Given the description of an element on the screen output the (x, y) to click on. 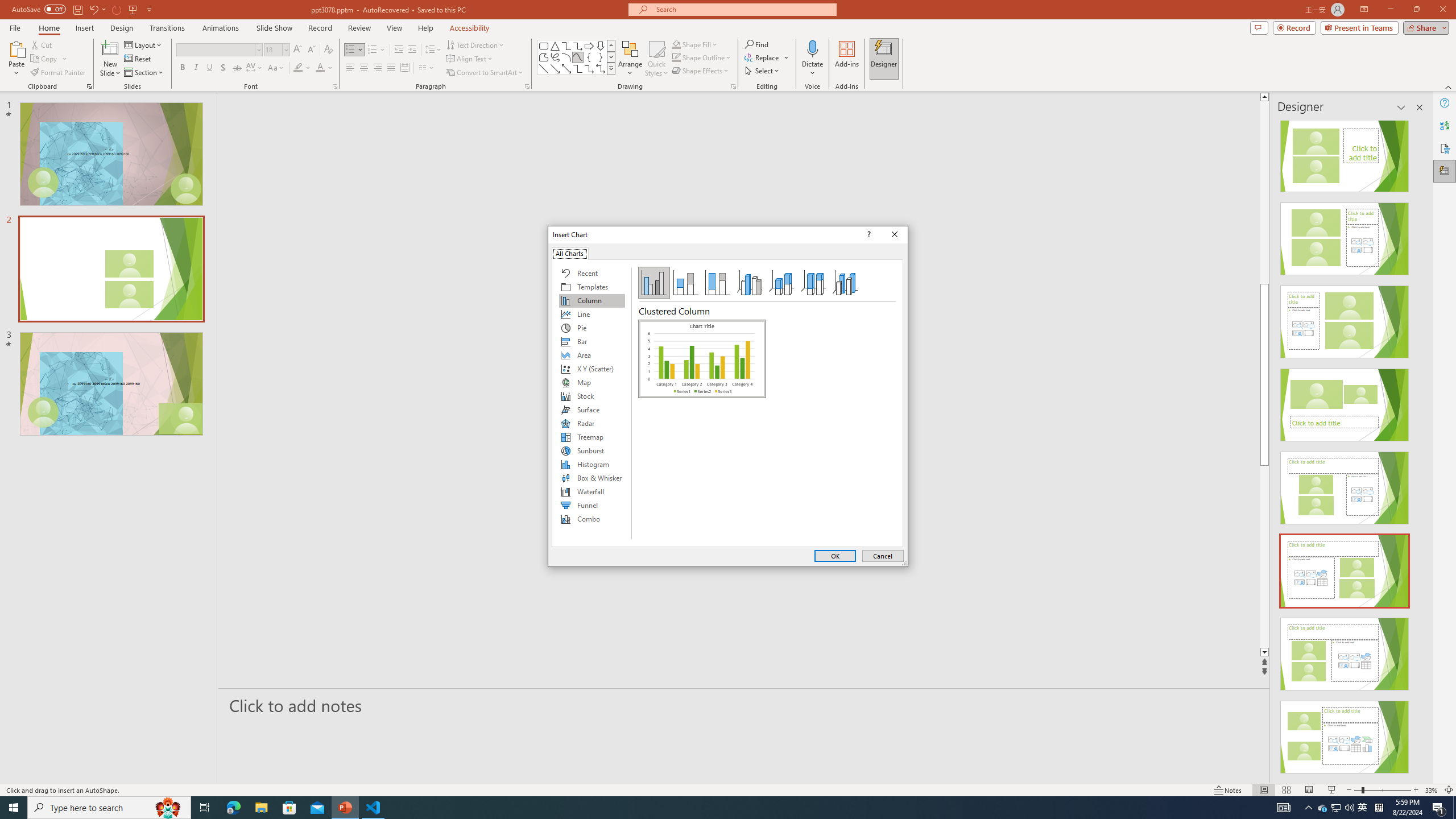
3-D 100% Stacked Column (813, 282)
Treemap (591, 436)
Chart Types (1322, 807)
